Given the description of an element on the screen output the (x, y) to click on. 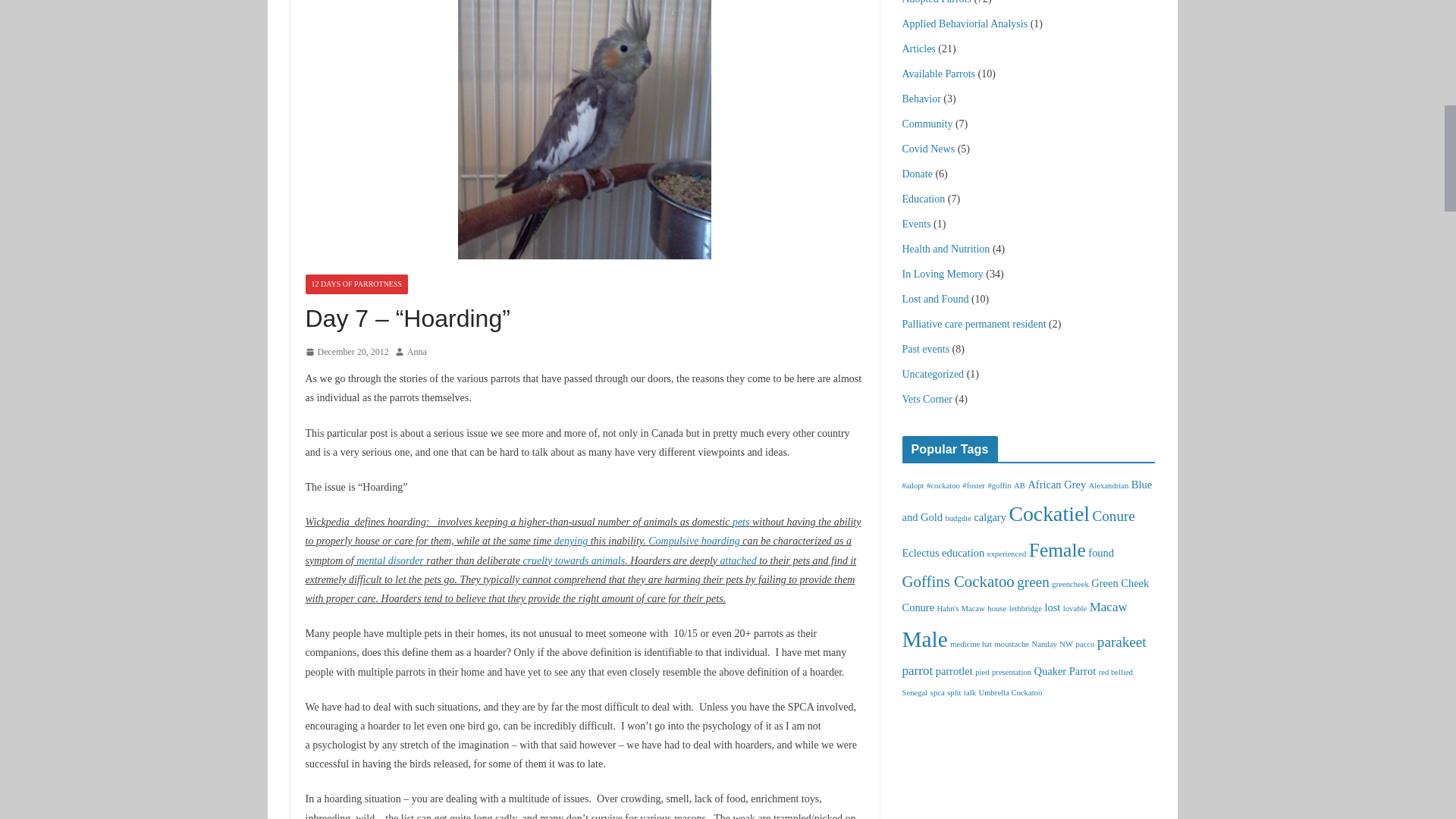
9:06 pm (346, 352)
Attachment theory (738, 560)
Anna (416, 352)
Denial (571, 541)
denying (571, 541)
Pet (740, 521)
pets (740, 521)
Compulsive hoarding (693, 541)
Anna (416, 352)
mental disorder (389, 560)
cruelty towards animals (573, 560)
December 20, 2012 (346, 352)
Mental disorder (389, 560)
12 DAYS OF PARROTNESS (355, 284)
Animal cruelty (573, 560)
